Given the description of an element on the screen output the (x, y) to click on. 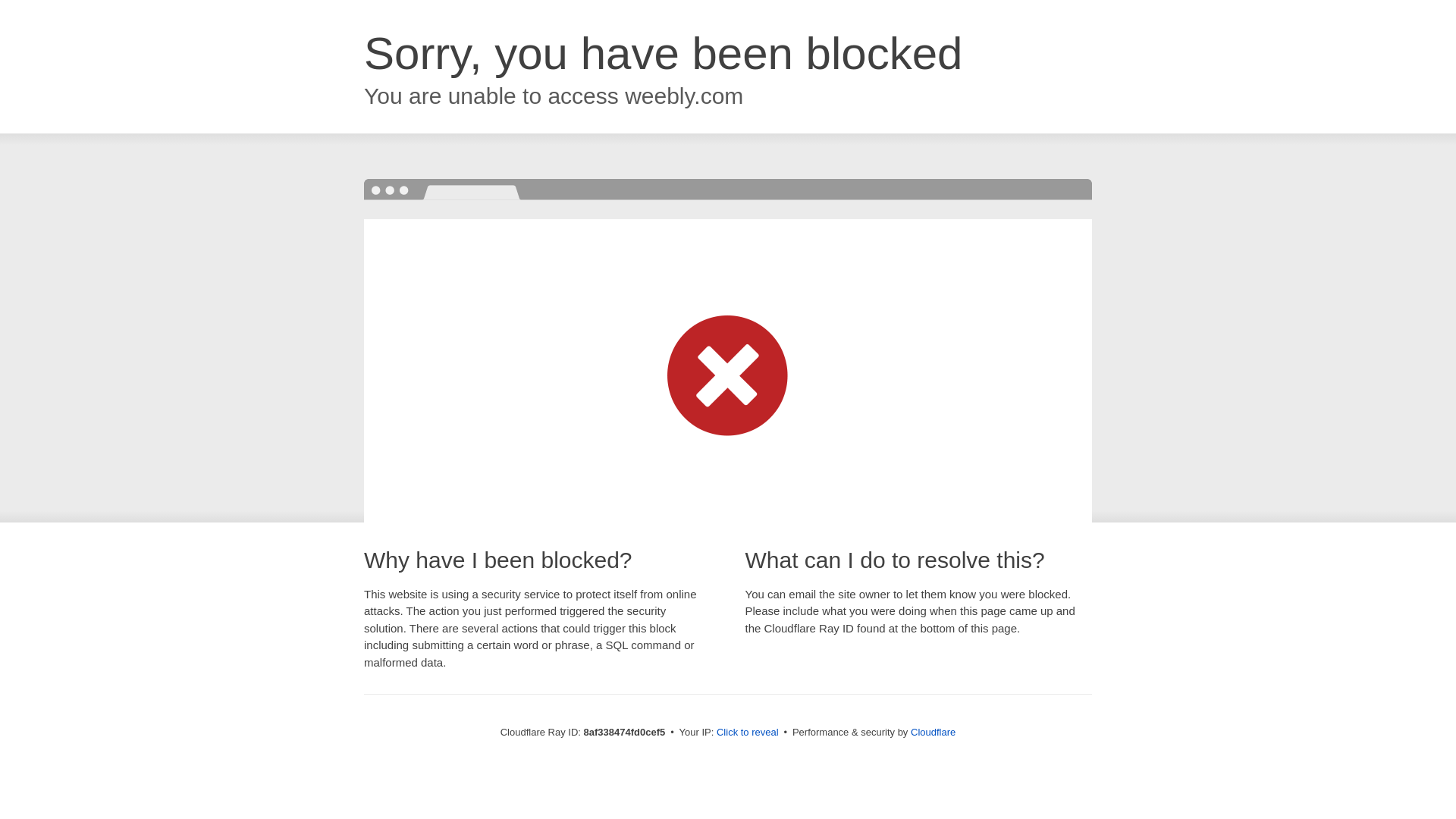
Click to reveal (747, 732)
Cloudflare (933, 731)
